Given the description of an element on the screen output the (x, y) to click on. 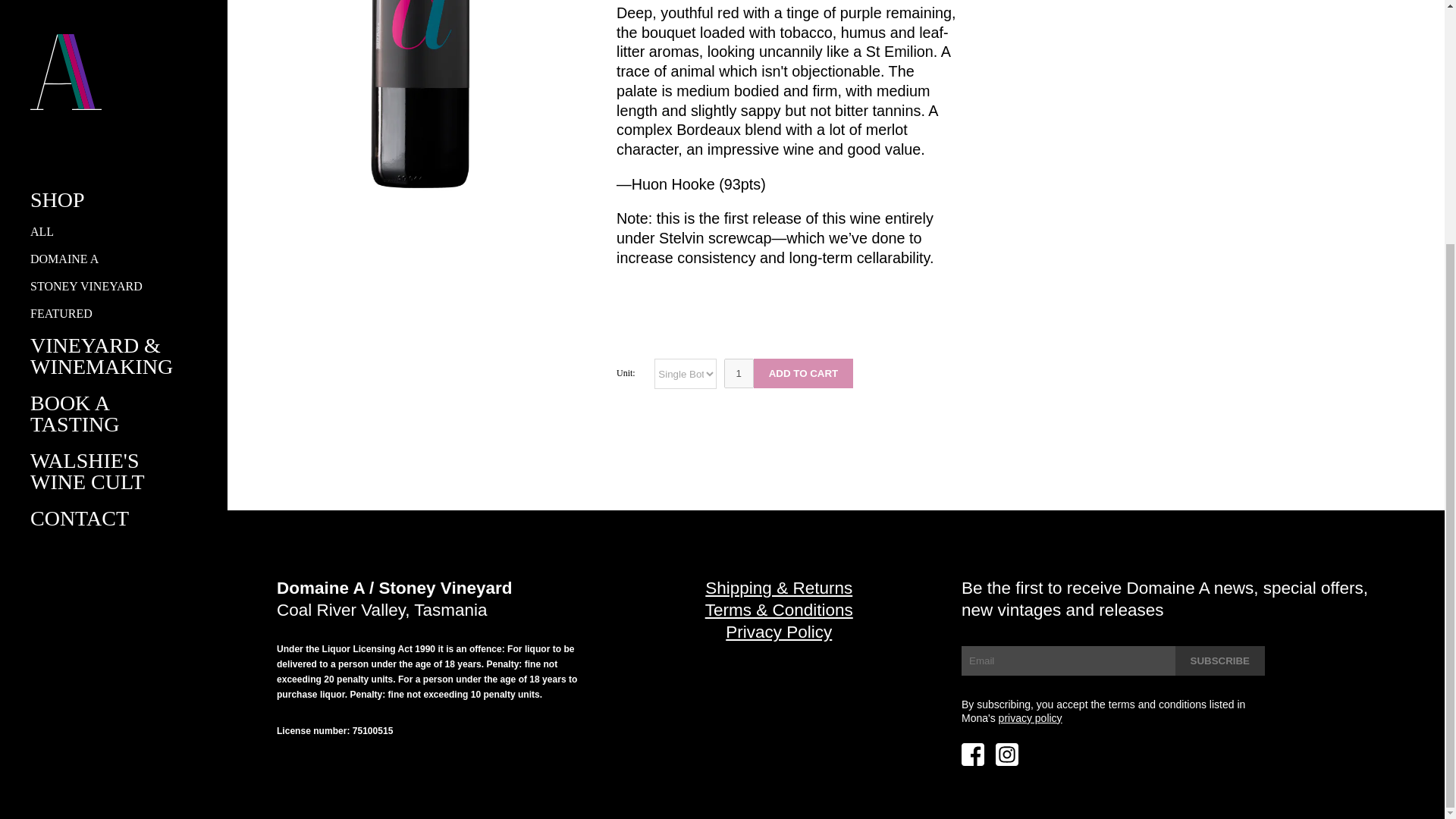
privacy policy (1030, 717)
CONTACT (79, 179)
1 (738, 373)
SUBSCRIBE (1219, 660)
Privacy Policy (778, 631)
BOOK A TASTING (74, 75)
Mona Privacy Policy (1030, 717)
ADD TO CART (803, 373)
WALSHIE'S WINE CULT (87, 132)
